Given the description of an element on the screen output the (x, y) to click on. 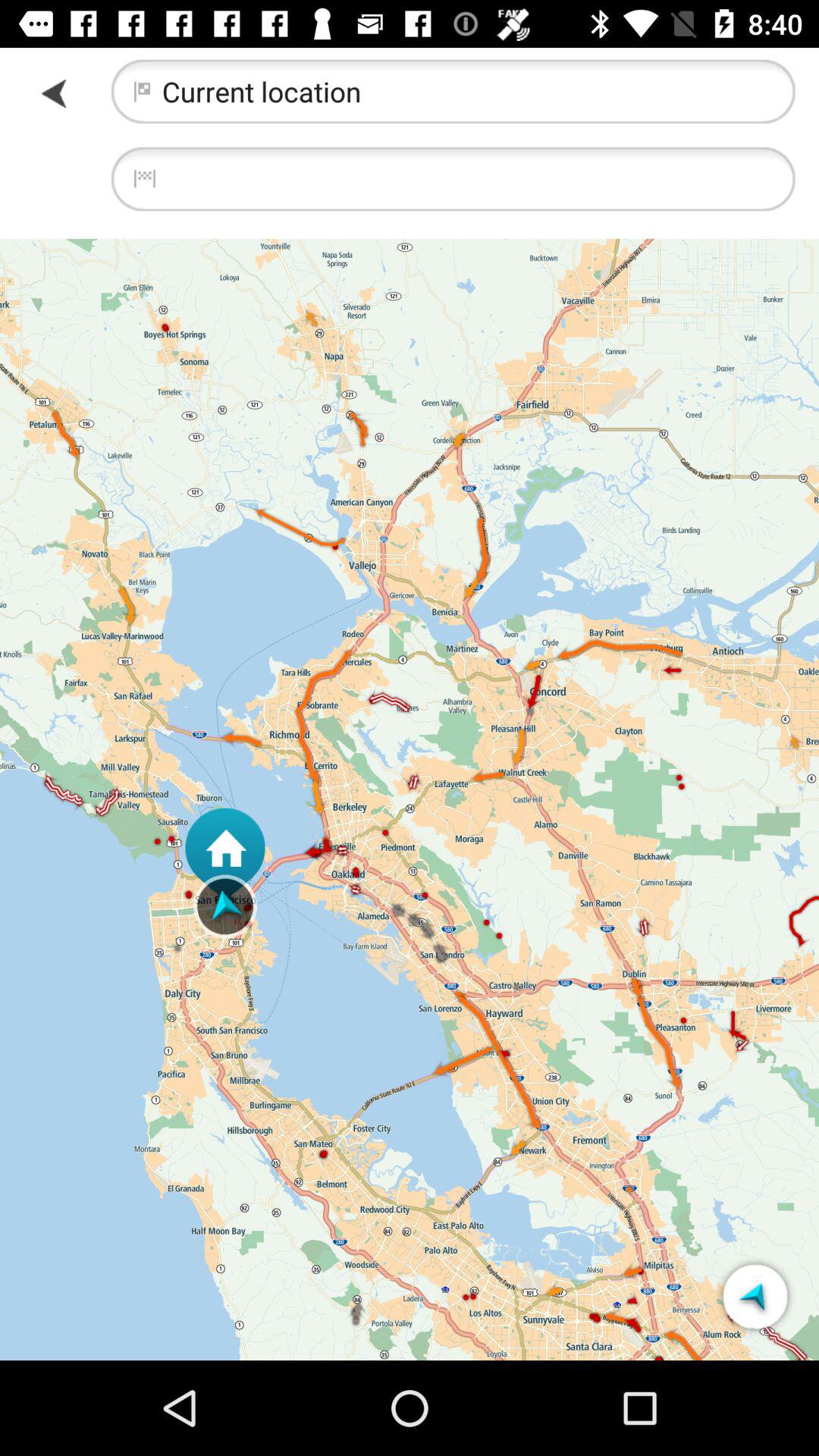
press item at the top left corner (55, 92)
